Given the description of an element on the screen output the (x, y) to click on. 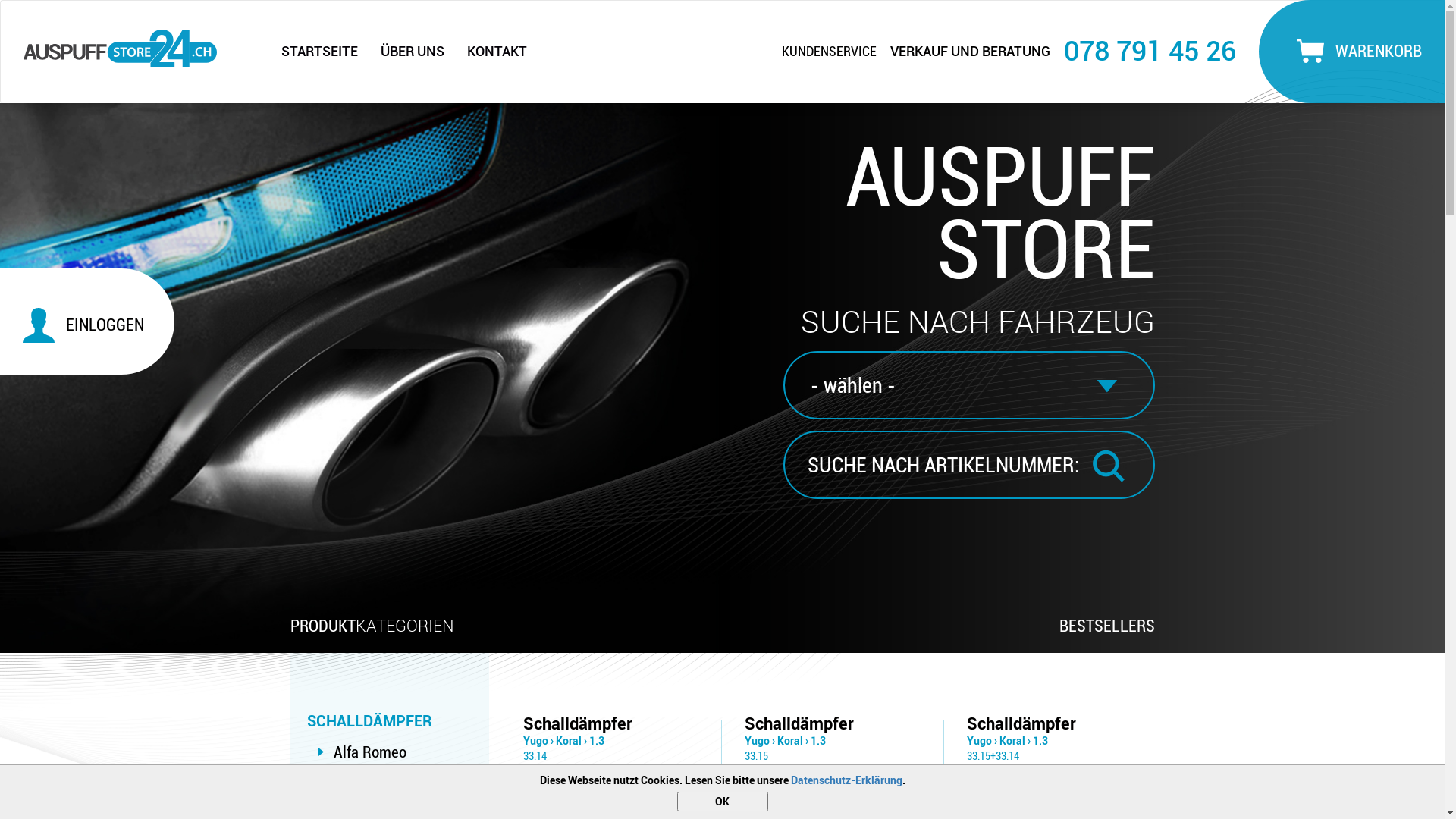
Yugo Element type: text (978, 740)
Yugo Element type: text (535, 740)
1.3 Element type: text (596, 740)
Koral Element type: text (568, 740)
KONTAKT Element type: text (496, 51)
1.3 Element type: text (817, 740)
Audi Element type: text (347, 784)
STARTSEITE Element type: text (319, 51)
1.3 Element type: text (1040, 740)
WARENKORB Element type: text (1355, 50)
Yugo Element type: text (756, 740)
Koral Element type: text (790, 740)
OK Element type: text (721, 801)
Alfa Romeo Element type: text (369, 752)
Koral Element type: text (1012, 740)
078 791 45 26 Element type: text (1149, 50)
EINLOGGEN Element type: text (94, 324)
